Given the description of an element on the screen output the (x, y) to click on. 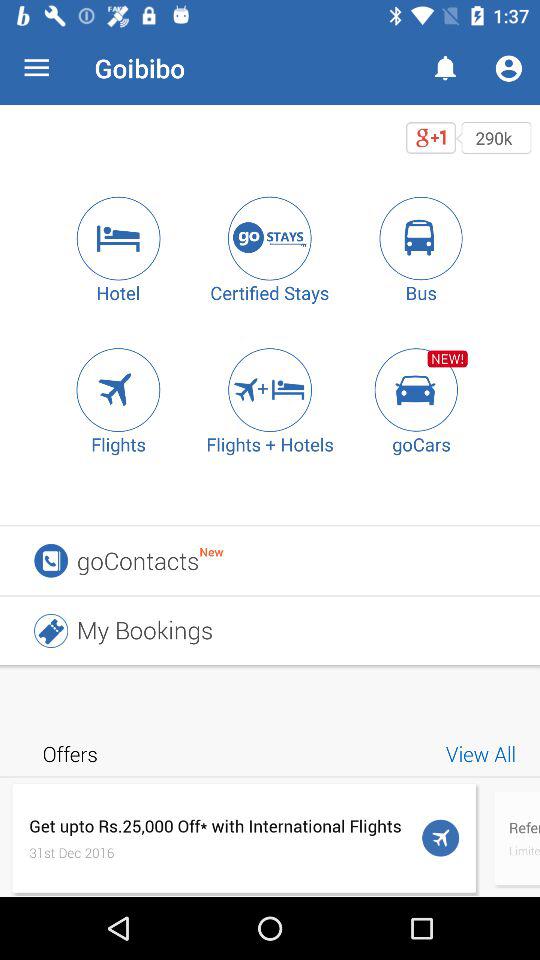
open certified stays window (269, 238)
